Given the description of an element on the screen output the (x, y) to click on. 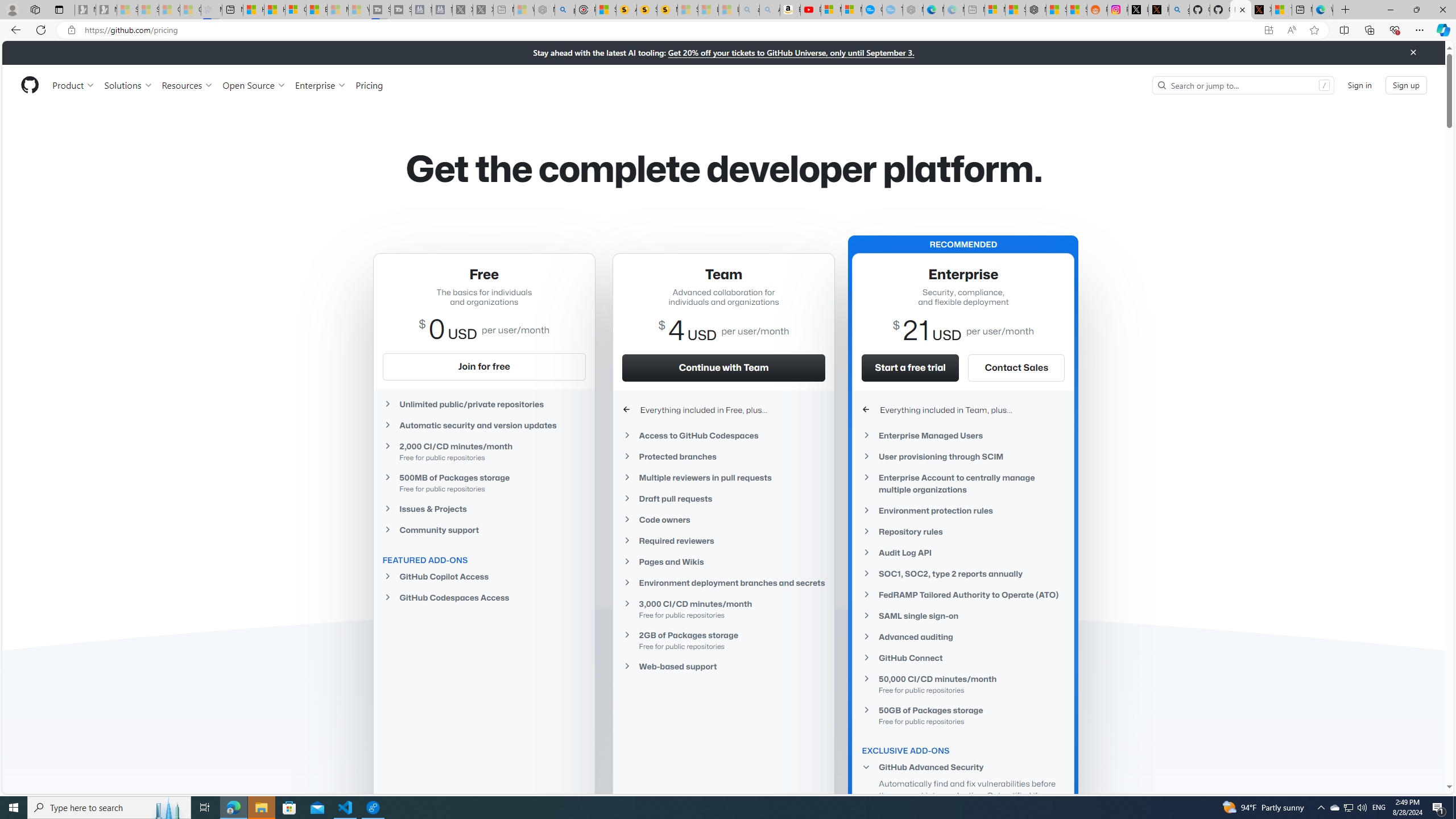
50,000 CI/CD minutes/monthFree for public repositories (963, 683)
Access to GitHub Codespaces (723, 435)
Nordace - Duffels (1035, 9)
Opinion: Op-Ed and Commentary - USA TODAY (871, 9)
X Privacy Policy (1261, 9)
Homepage (29, 85)
Sign in (1359, 84)
Product (74, 84)
Issues & Projects (483, 508)
Pages and Wikis (723, 561)
Everything included in Team, plus... (963, 409)
